Given the description of an element on the screen output the (x, y) to click on. 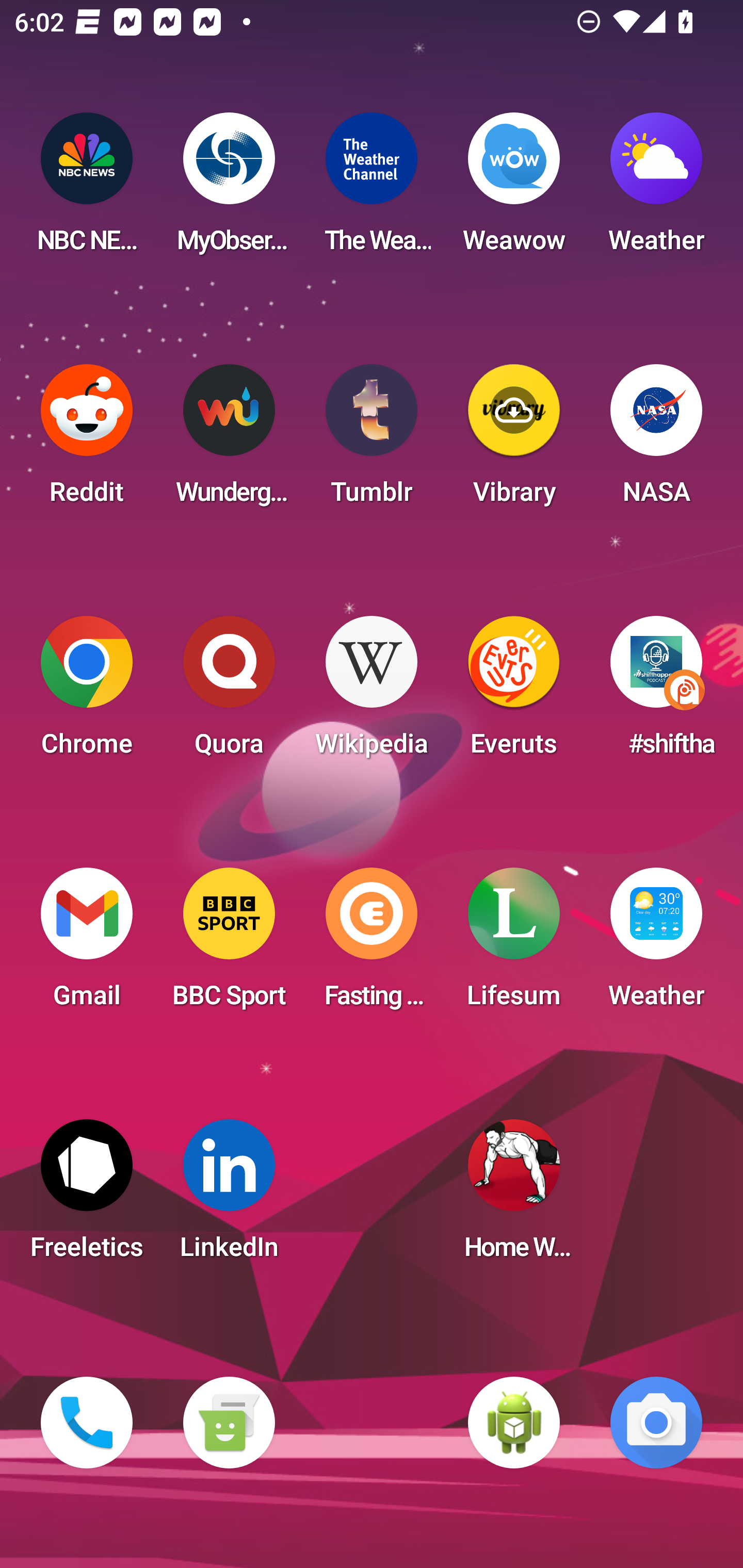
NBC NEWS (86, 188)
MyObservatory (228, 188)
The Weather Channel (371, 188)
Weawow (513, 188)
Weather (656, 188)
Reddit (86, 440)
Wunderground (228, 440)
Tumblr (371, 440)
Vibrary (513, 440)
NASA (656, 440)
Chrome (86, 692)
Quora (228, 692)
Wikipedia (371, 692)
Everuts (513, 692)
#shifthappens in the Digital Workplace Podcast (656, 692)
Gmail (86, 943)
BBC Sport (228, 943)
Fasting Coach (371, 943)
Lifesum (513, 943)
Weather (656, 943)
Freeletics (86, 1195)
LinkedIn (228, 1195)
Home Workout (513, 1195)
Phone (86, 1422)
Messaging (228, 1422)
WebView Browser Tester (513, 1422)
Camera (656, 1422)
